Given the description of an element on the screen output the (x, y) to click on. 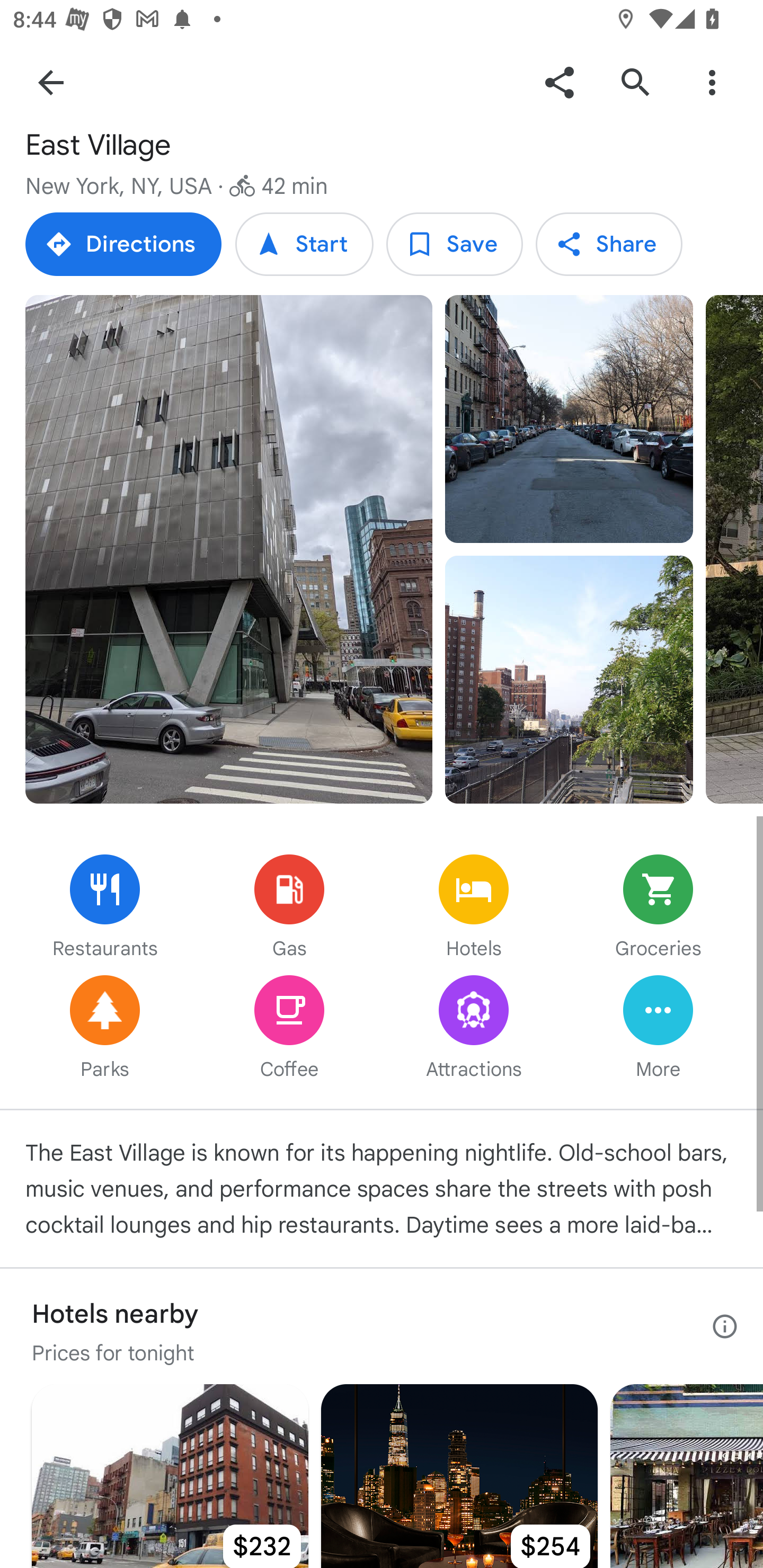
Back to Search (50, 81)
Share (559, 81)
Search (635, 81)
More options for East Village (711, 81)
Start Start Start (304, 243)
Share East Village Share Share East Village (608, 243)
Photo (228, 548)
Photo (568, 418)
Photo (568, 678)
Restaurants (104, 908)
Gas (288, 908)
Hotels (473, 908)
Groceries (658, 908)
Parks (104, 1029)
Coffee (288, 1029)
Attractions (473, 1029)
More (658, 1029)
About hotel pricing (724, 1326)
$232 (170, 1476)
$254 (459, 1476)
